Given the description of an element on the screen output the (x, y) to click on. 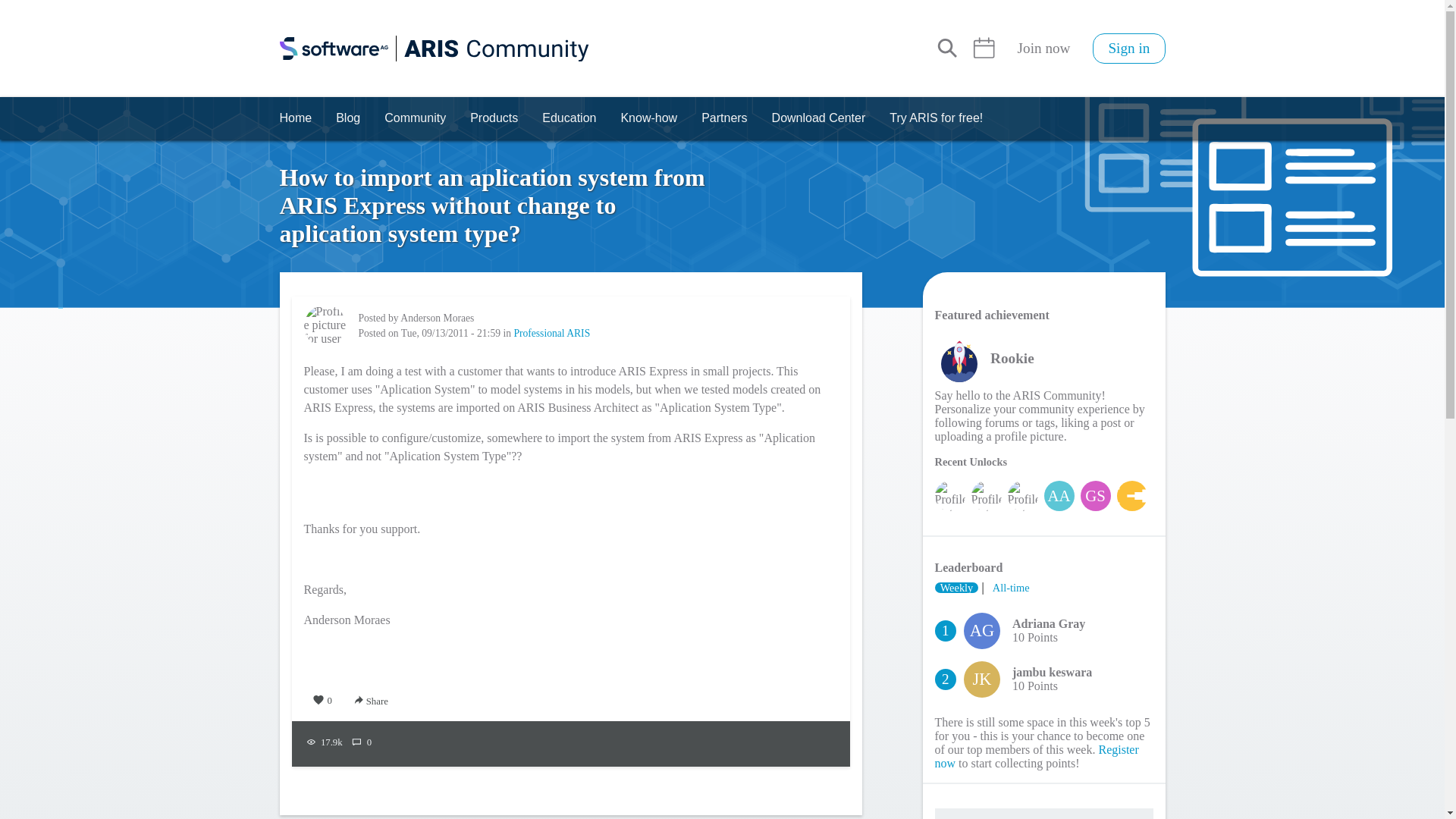
Gautam Kumar Singh (1094, 495)
Professional ARIS (551, 333)
Join now (1042, 48)
Sign in (1128, 48)
Home (434, 48)
Know-how (648, 118)
Tuesday, September 13, 2011 - 21:59 (450, 333)
Try ARIS for free! (935, 118)
Education (568, 118)
Share (370, 699)
